Given the description of an element on the screen output the (x, y) to click on. 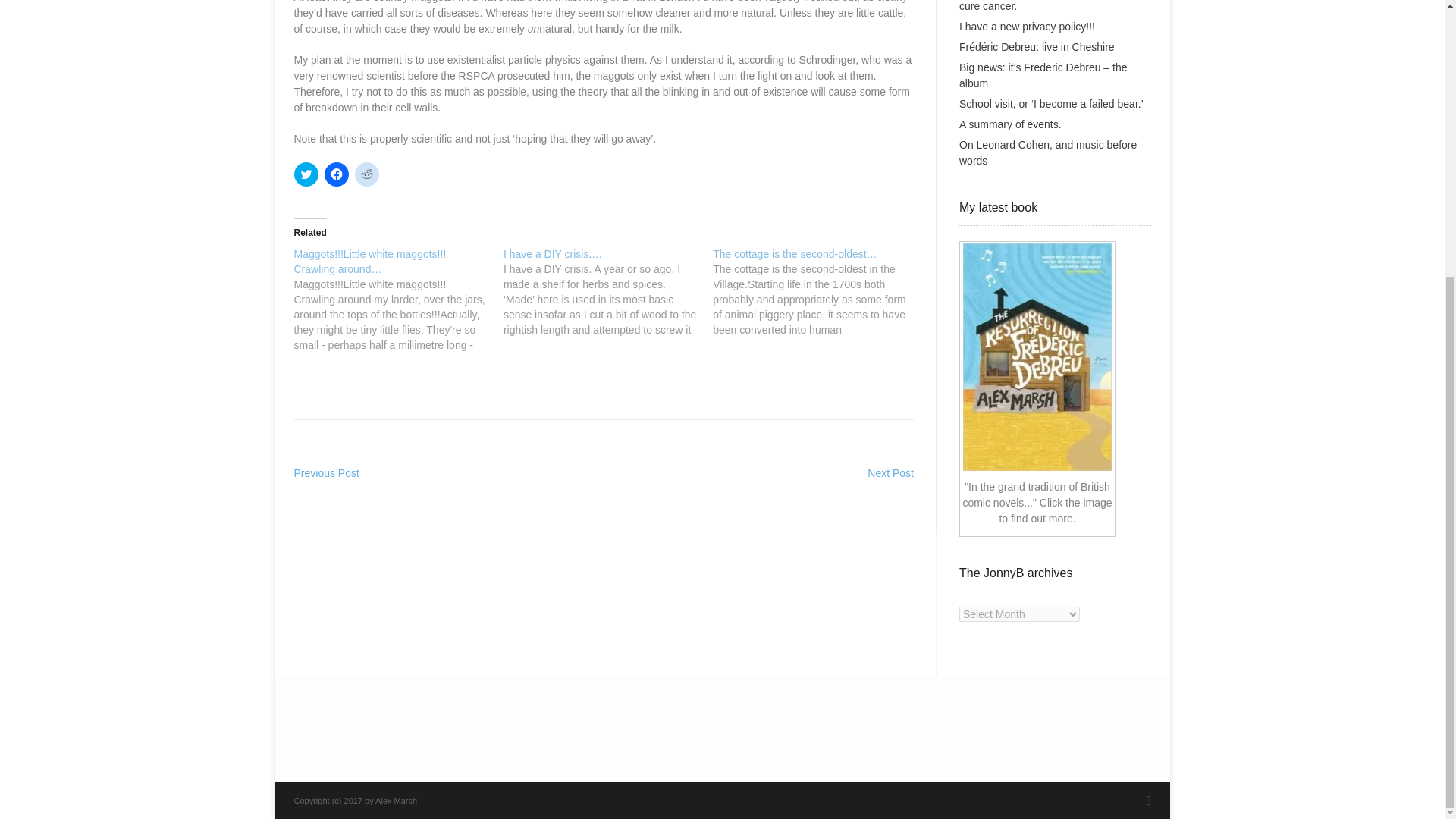
Click to share on Reddit (366, 174)
I have a new privacy policy!!! (1026, 26)
A summary of events. (1010, 123)
Previous Post (326, 472)
On Leonard Cohen, and music before words (1048, 152)
Click to share on Facebook (336, 174)
Next Post (890, 472)
Click to share on Twitter (306, 174)
I agree to do 100 push-ups a day, to cure cancer. (1044, 6)
